Given the description of an element on the screen output the (x, y) to click on. 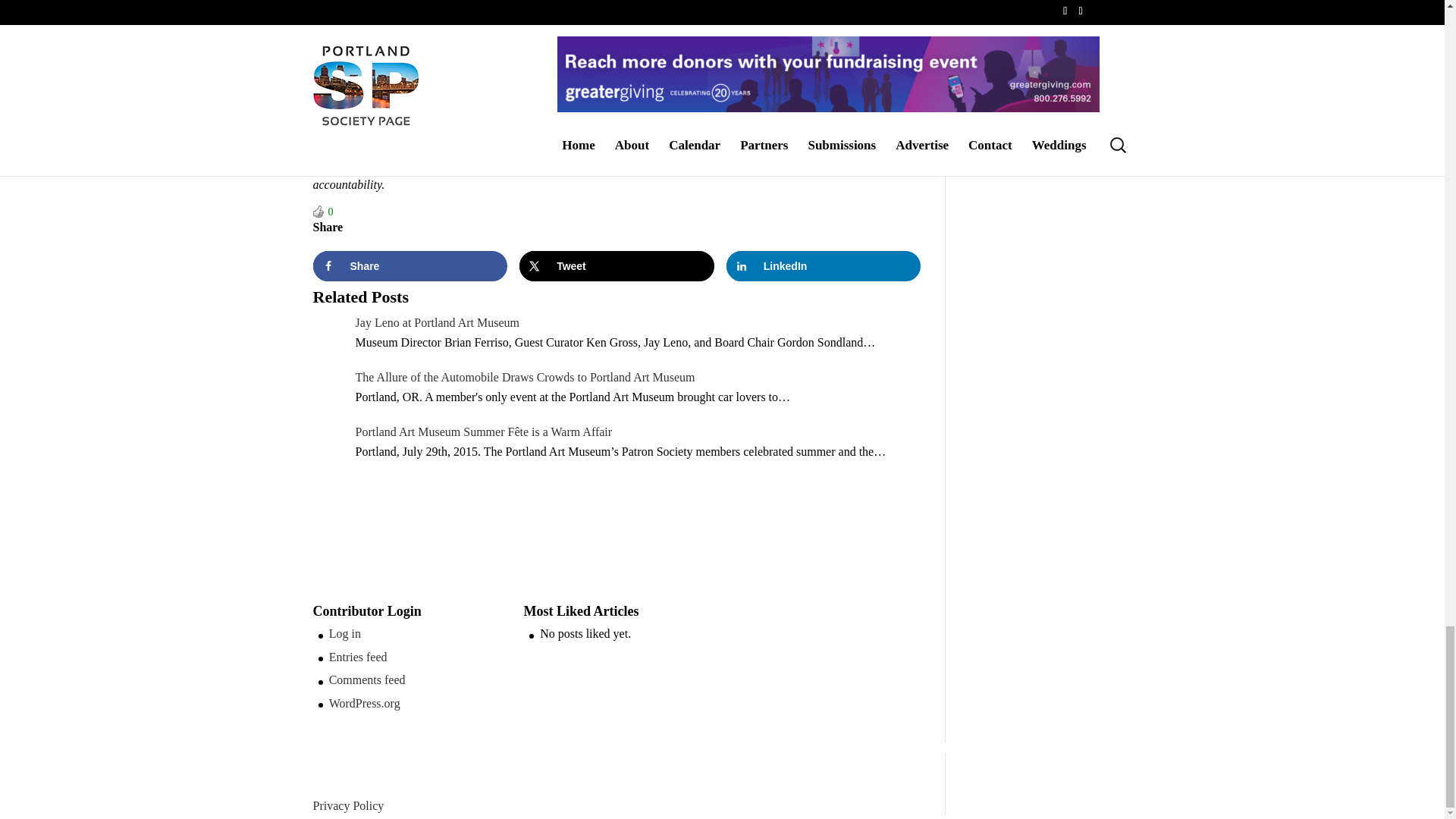
Share (409, 265)
LinkedIn (823, 265)
Jay Leno at Portland Art Museum (437, 322)
Share on Facebook (409, 265)
Share on LinkedIn (823, 265)
Tweet (616, 265)
Share on X (616, 265)
